Given the description of an element on the screen output the (x, y) to click on. 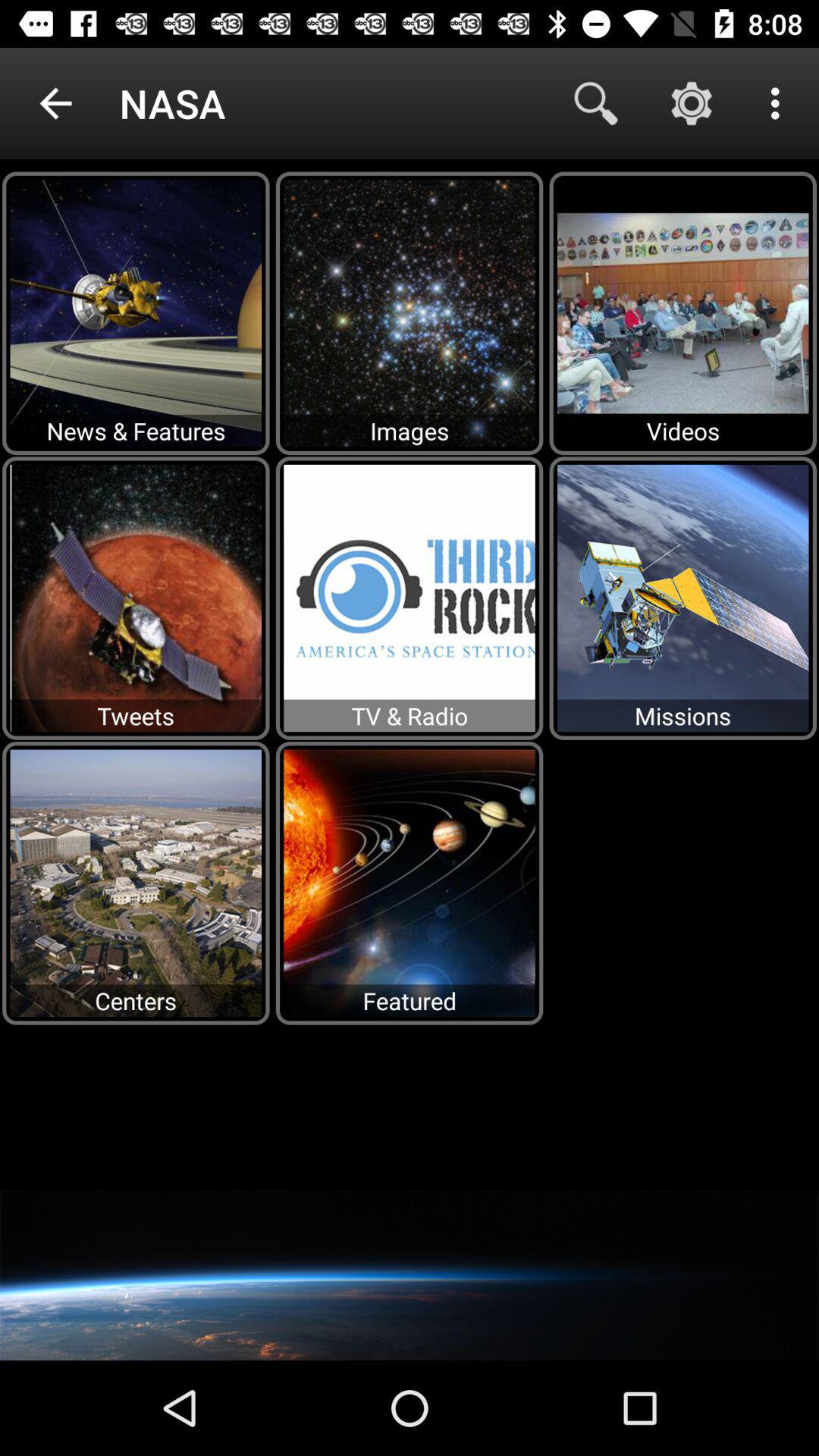
select the option which is below the videos (683, 598)
click icon right to settings icon in top right corner (779, 103)
select the image newsfeatures in the first row which is below the text nasa (135, 312)
